Given the description of an element on the screen output the (x, y) to click on. 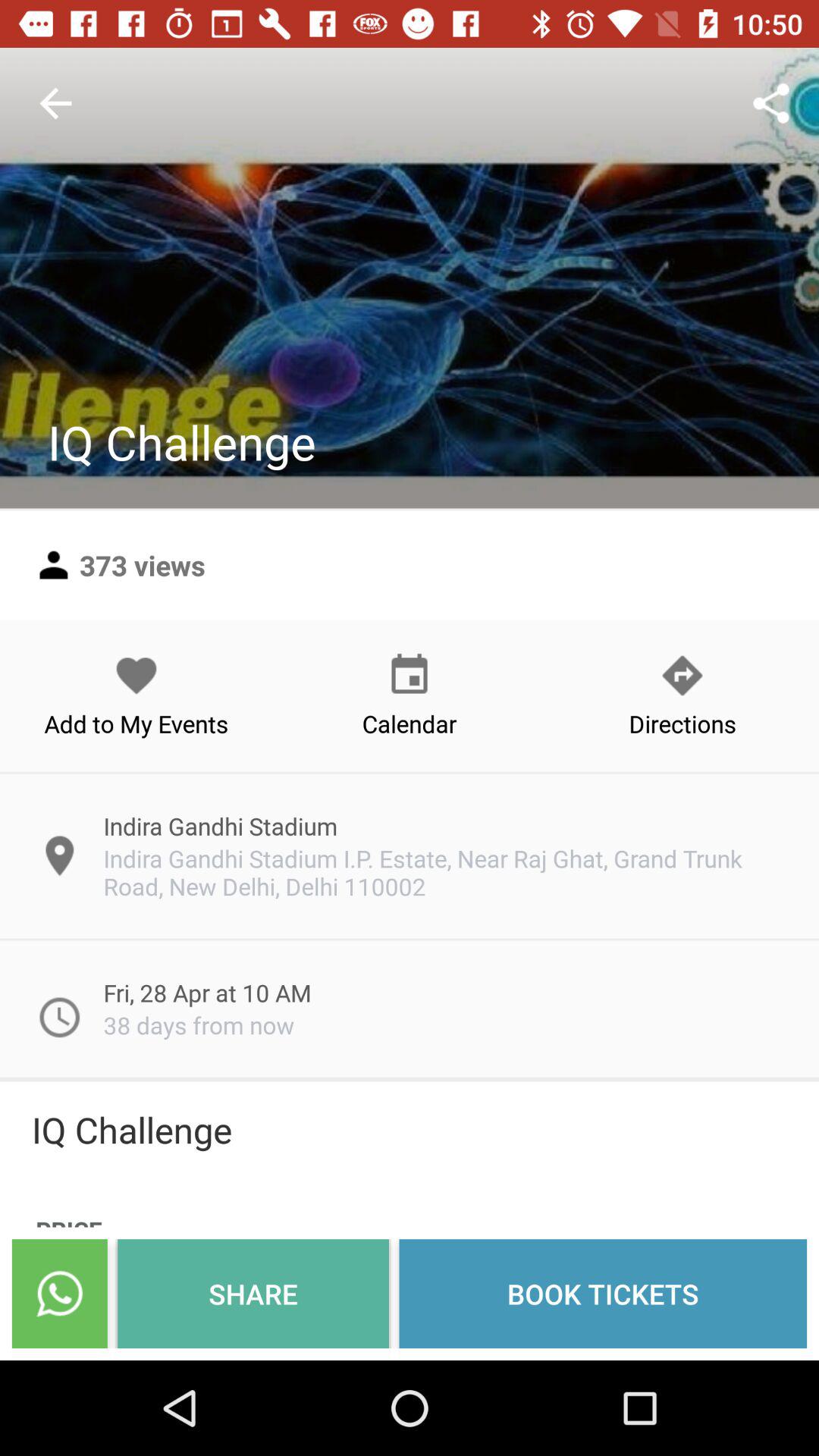
press the item below 373 views icon (136, 695)
